Given the description of an element on the screen output the (x, y) to click on. 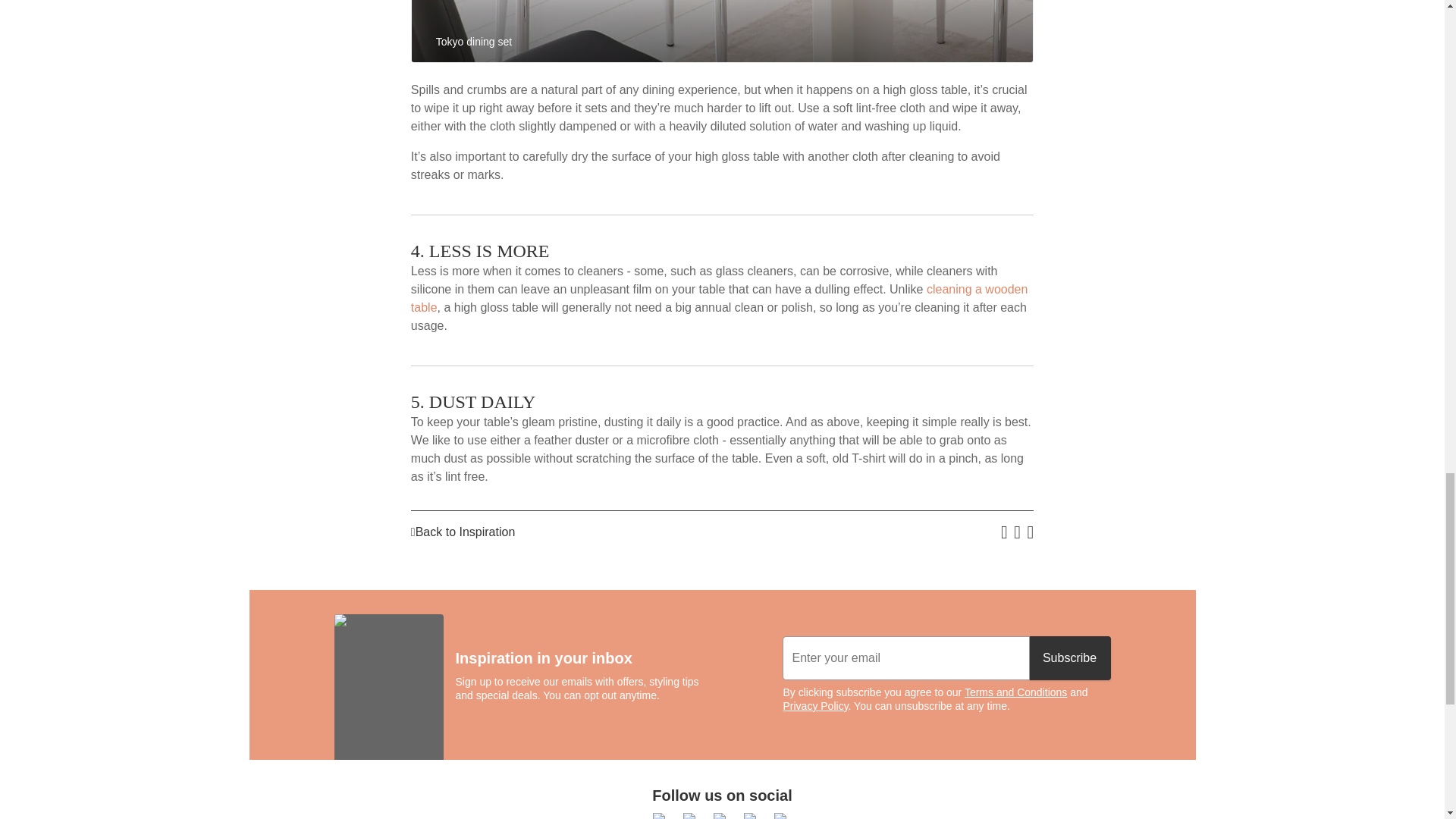
Instagram (751, 816)
Twitter (782, 816)
Pinterest (691, 816)
Tiktok (721, 816)
Facebook (660, 816)
